Given the description of an element on the screen output the (x, y) to click on. 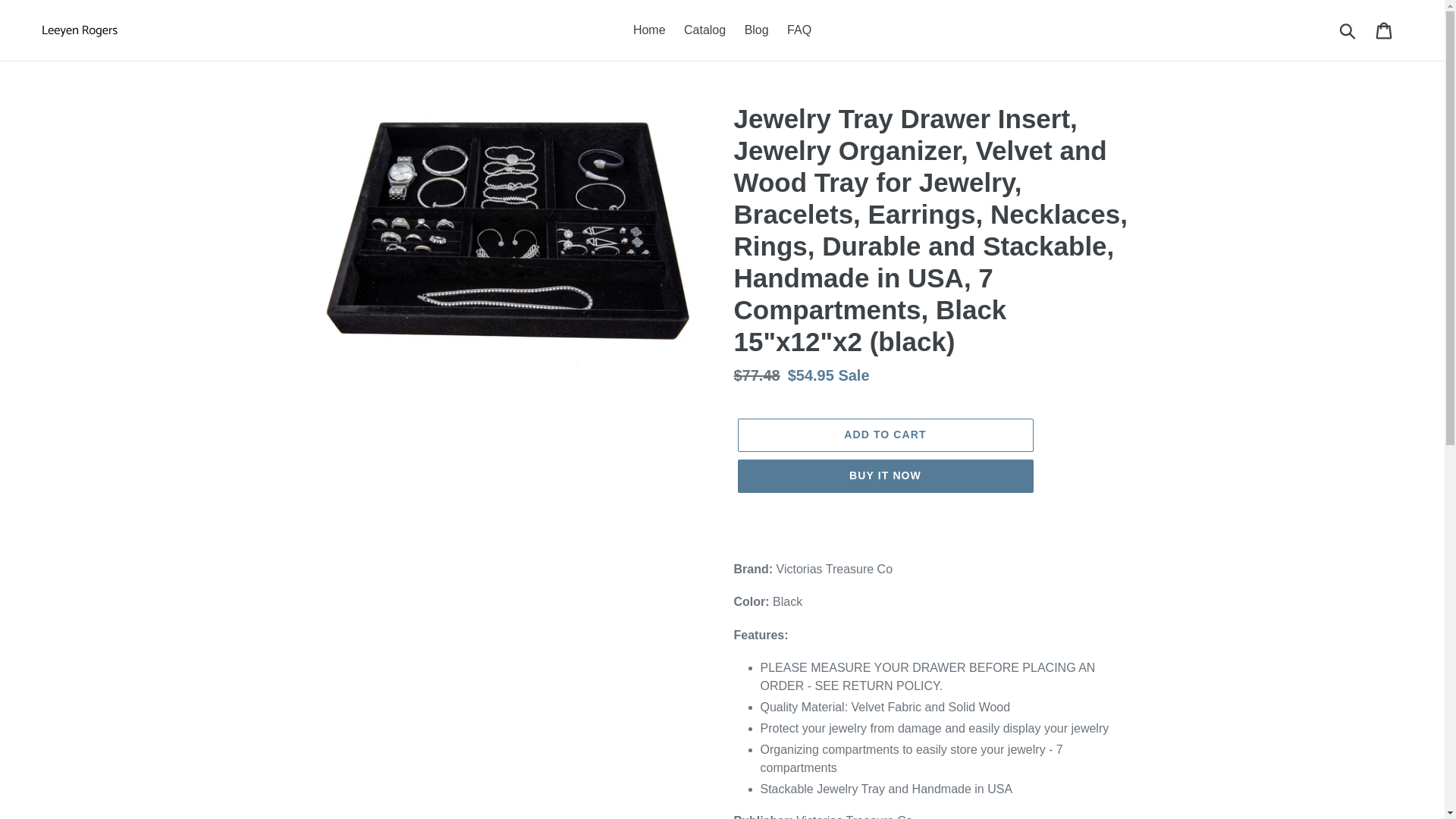
FAQ (798, 29)
ADD TO CART (884, 435)
Blog (756, 29)
Catalog (705, 29)
Submit (1348, 29)
Home (649, 29)
Cart (1385, 29)
BUY IT NOW (884, 476)
